Given the description of an element on the screen output the (x, y) to click on. 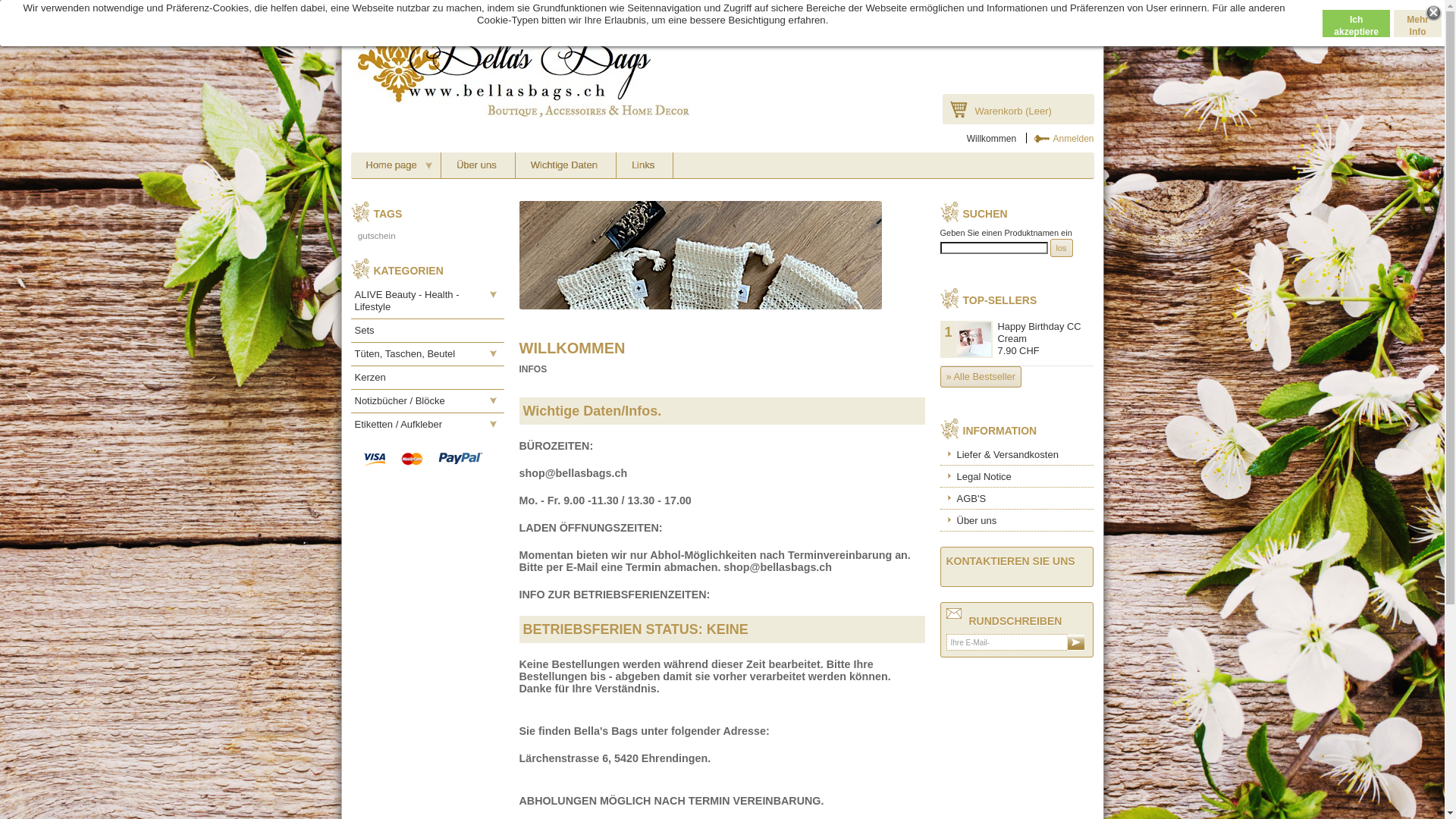
Etiketten / Aufkleber Element type: text (426, 424)
los Element type: text (1061, 247)
ok Element type: text (1075, 642)
ALIVE Beauty - Health - Lifestyle Element type: text (426, 300)
Legal Notice Element type: text (1016, 475)
TOP-SELLERS Element type: text (1000, 300)
1 Element type: text (966, 338)
Sets Element type: text (426, 330)
AGB'S Element type: text (1016, 497)
Warenkorb (Leer) Element type: text (1017, 109)
Sitemap Element type: text (1019, 7)
Wichtige Daten Element type: text (564, 165)
Kerzen Element type: text (426, 377)
Kontakt Element type: text (971, 7)
soap bags Element type: hover (721, 254)
Bella's Bags Element type: hover (520, 66)
Liefer & Versandkosten Element type: text (1016, 453)
gutschein Element type: text (376, 235)
Anmelden Element type: text (1059, 137)
Links Element type: text (643, 165)
Mehr Info Element type: text (1417, 22)
Happy Birthday CC Cream
7.90 CHF Element type: text (1044, 338)
Facebook Element type: text (919, 7)
soap bags Element type: hover (316, 254)
INFORMATION Element type: text (1000, 430)
